Given the description of an element on the screen output the (x, y) to click on. 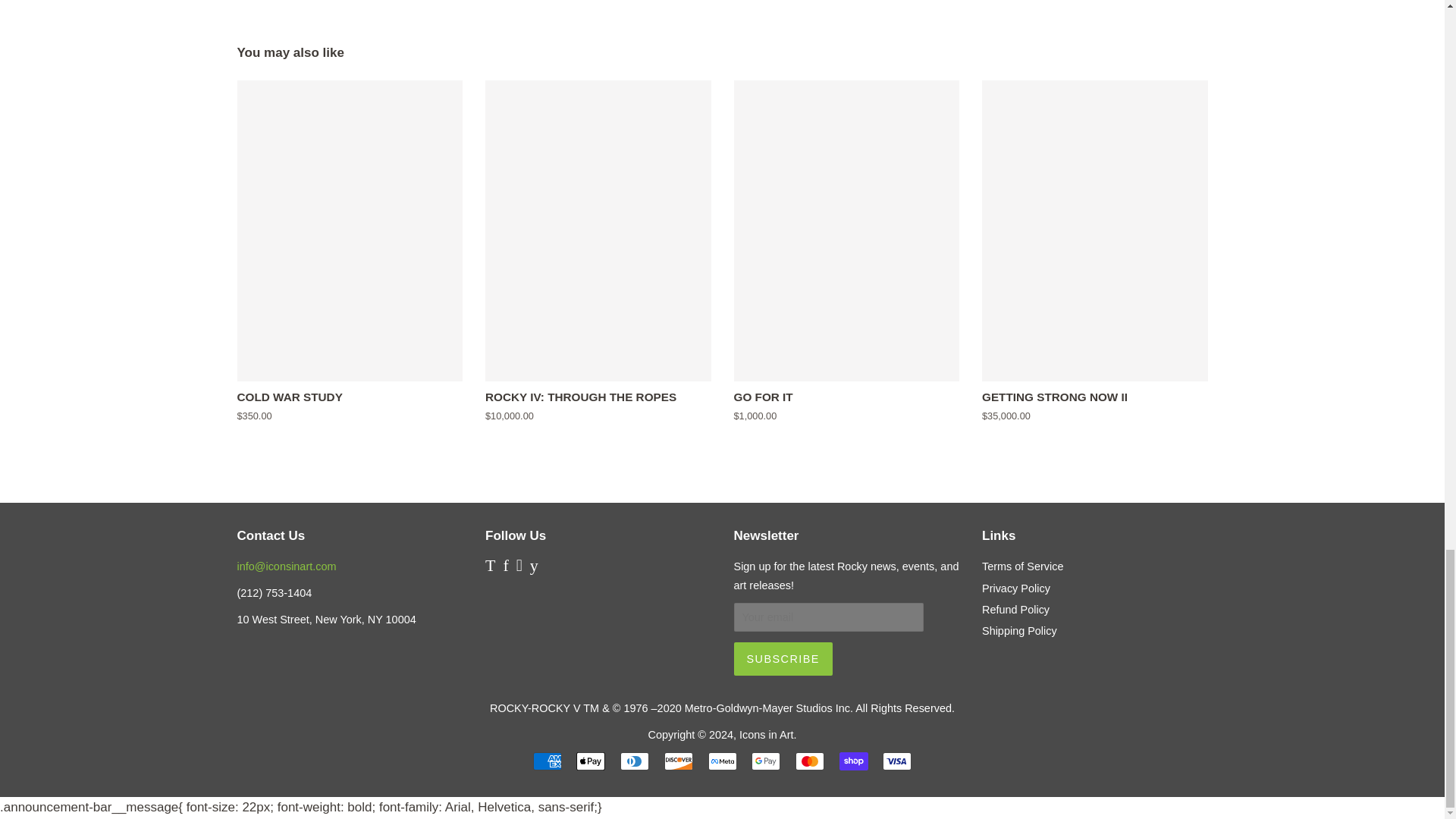
Shop Pay (853, 761)
Diners Club (634, 761)
American Express (547, 761)
Apple Pay (590, 761)
Meta Pay (721, 761)
Visa (896, 761)
Discover (678, 761)
Google Pay (765, 761)
Mastercard (809, 761)
Subscribe (782, 658)
